Given the description of an element on the screen output the (x, y) to click on. 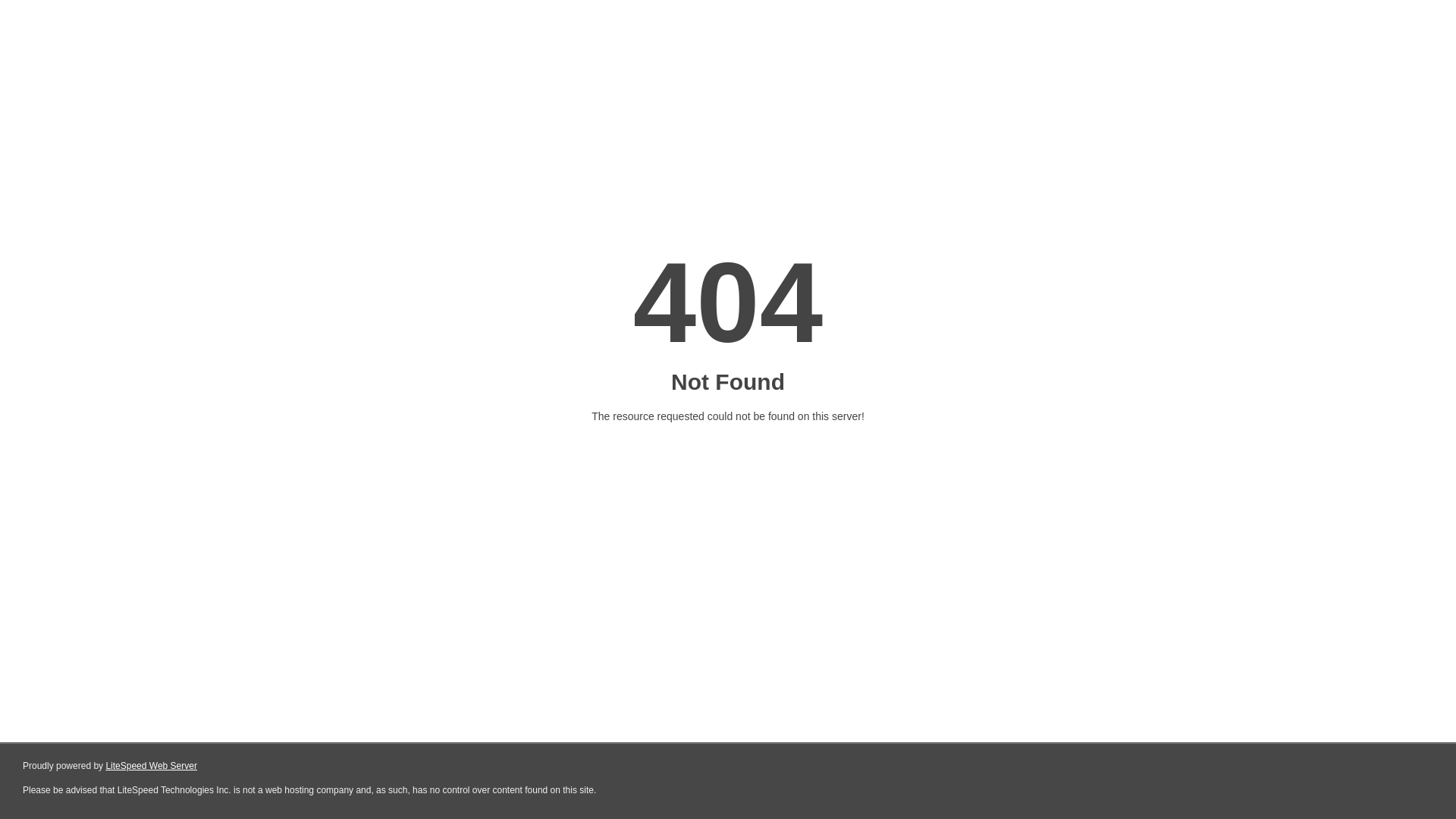
LiteSpeed Web Server Element type: text (151, 765)
